Given the description of an element on the screen output the (x, y) to click on. 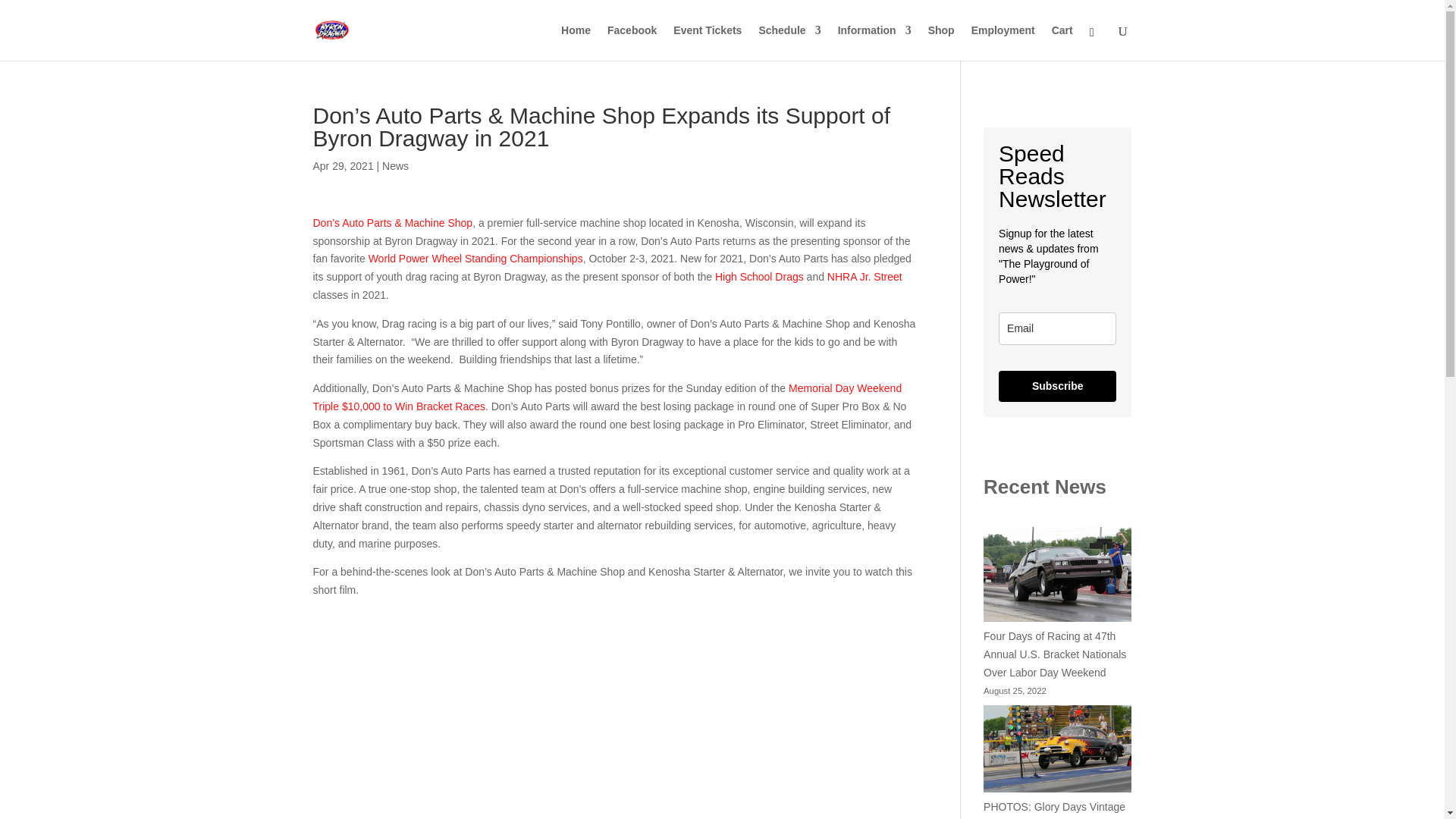
Cart (1062, 42)
Employment (1003, 42)
Schedule (789, 42)
Information (874, 42)
Shop (941, 42)
Facebook (631, 42)
Event Tickets (706, 42)
Home (575, 42)
Don's Auto Parts (614, 709)
